Given the description of an element on the screen output the (x, y) to click on. 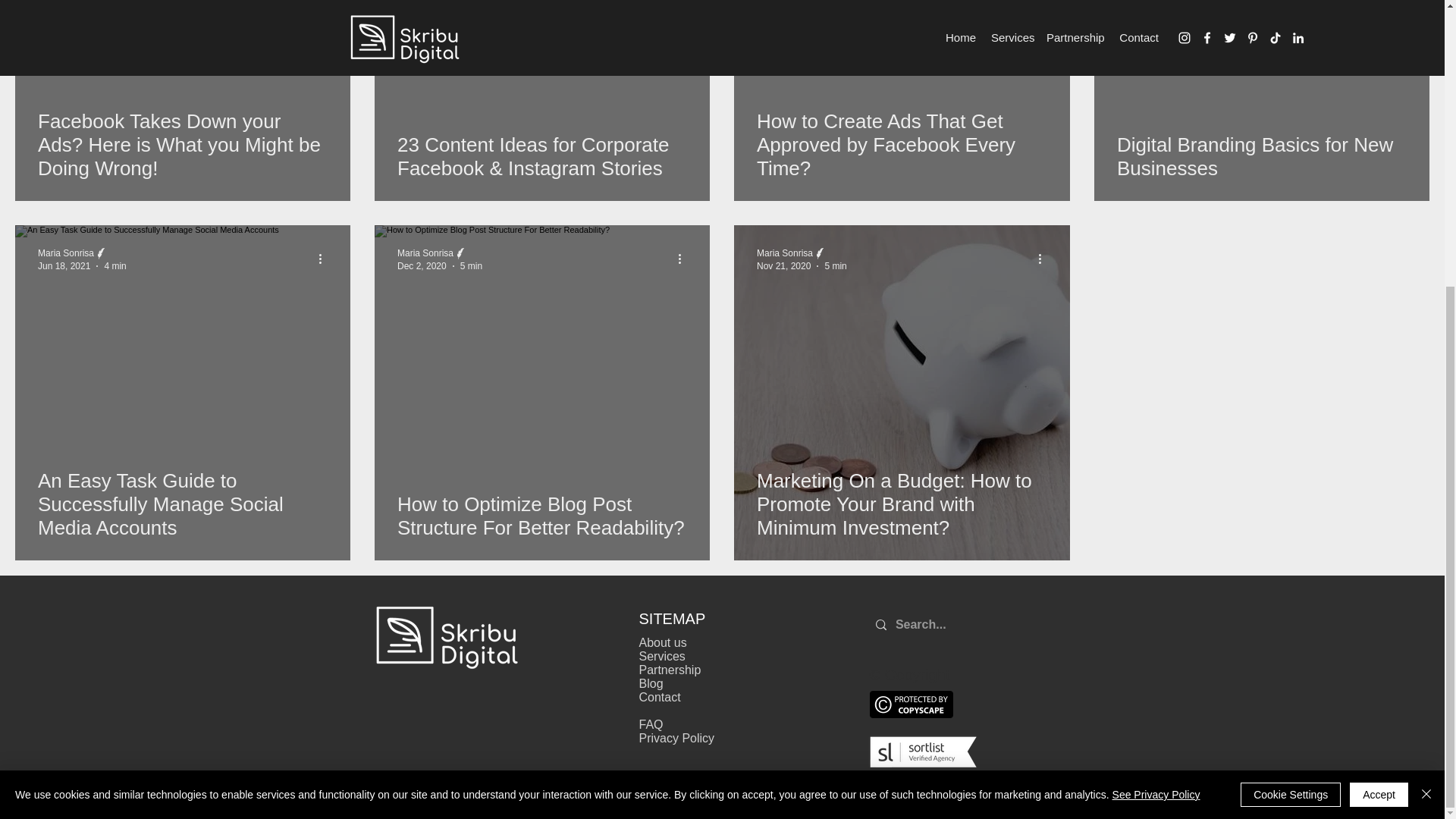
Maria Sonrisa (65, 253)
Dec 2, 2020 (421, 265)
Maria Sonrisa (424, 253)
Digital Branding Basics for New Businesses (1261, 156)
4 min (114, 265)
Maria Sonrisa (784, 253)
Contact (659, 697)
FAQ (650, 724)
Partnership (669, 669)
5 min (470, 265)
Privacy Policy (676, 738)
Blog (650, 683)
How to Optimize Blog Post Structure For Better Readability? (542, 515)
